Given the description of an element on the screen output the (x, y) to click on. 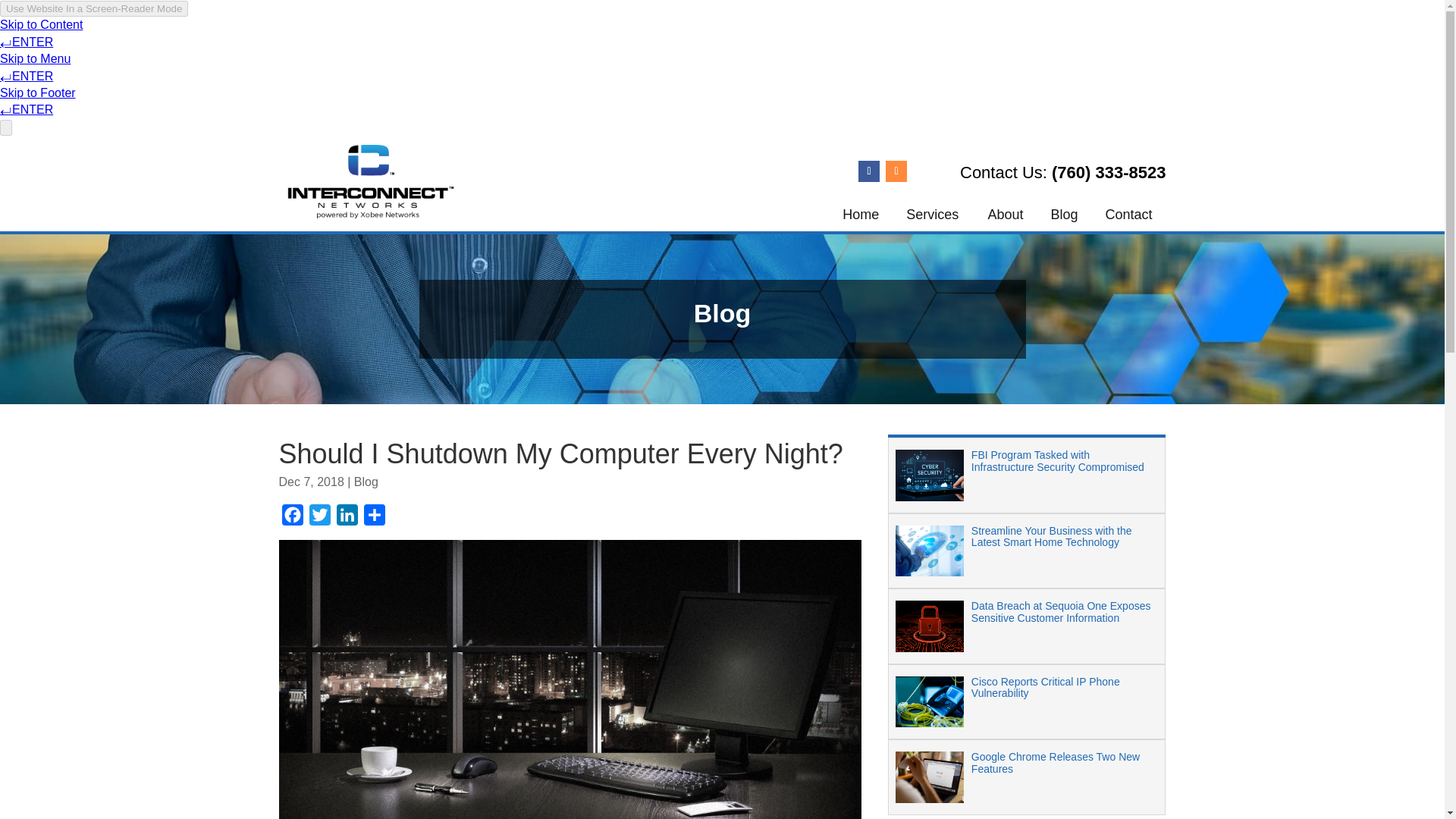
About (1005, 214)
Contact (1128, 214)
Follow on Facebook (869, 170)
Blog (1063, 214)
Follow on RSS (896, 170)
LinkedIn (347, 518)
Facebook (292, 518)
Home (860, 214)
Twitter (319, 518)
Services (933, 214)
